Given the description of an element on the screen output the (x, y) to click on. 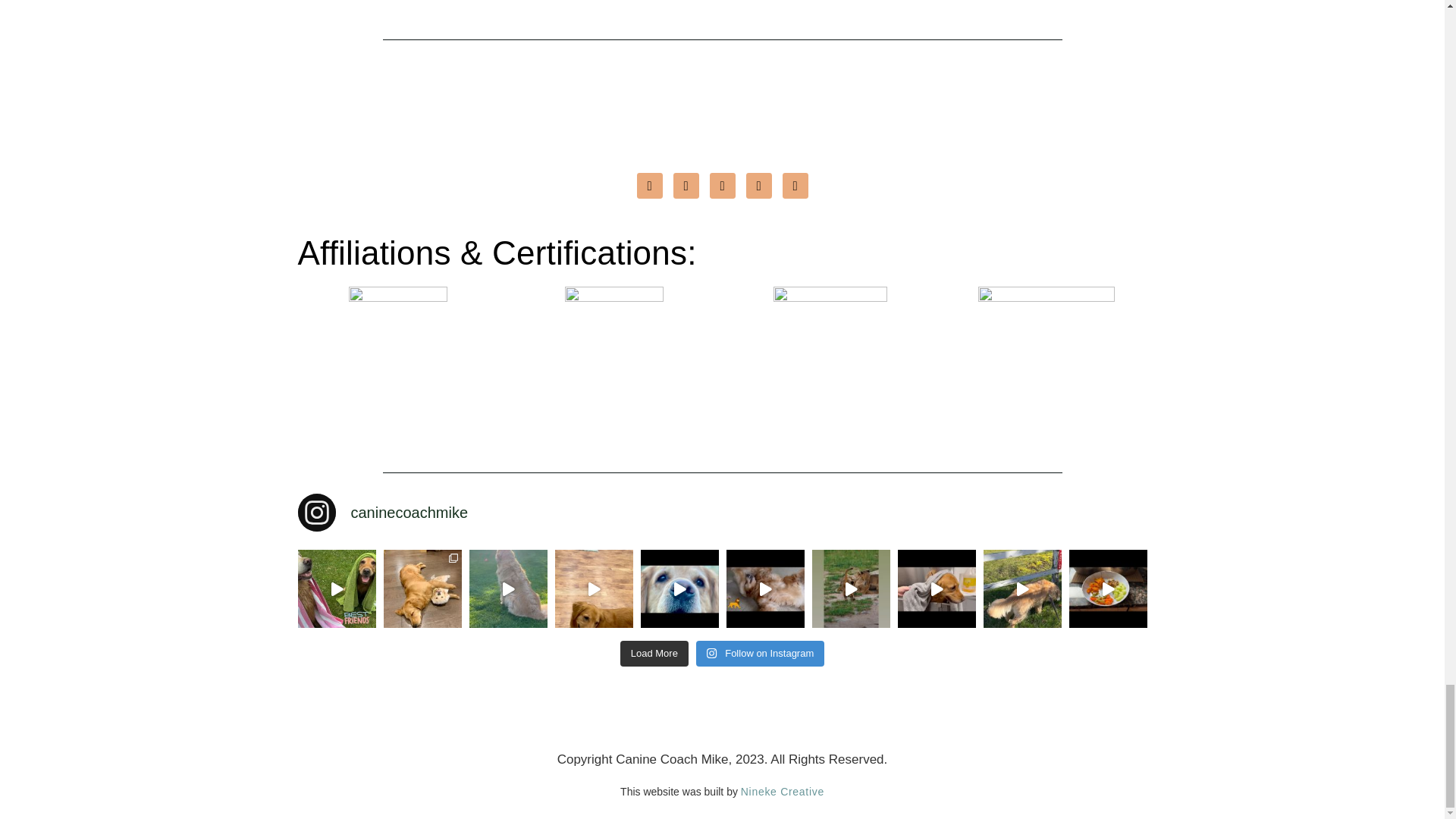
Follow on Instagram (759, 653)
Load More (654, 653)
caninecoachmike (722, 512)
Nineke Creative (782, 791)
